Given the description of an element on the screen output the (x, y) to click on. 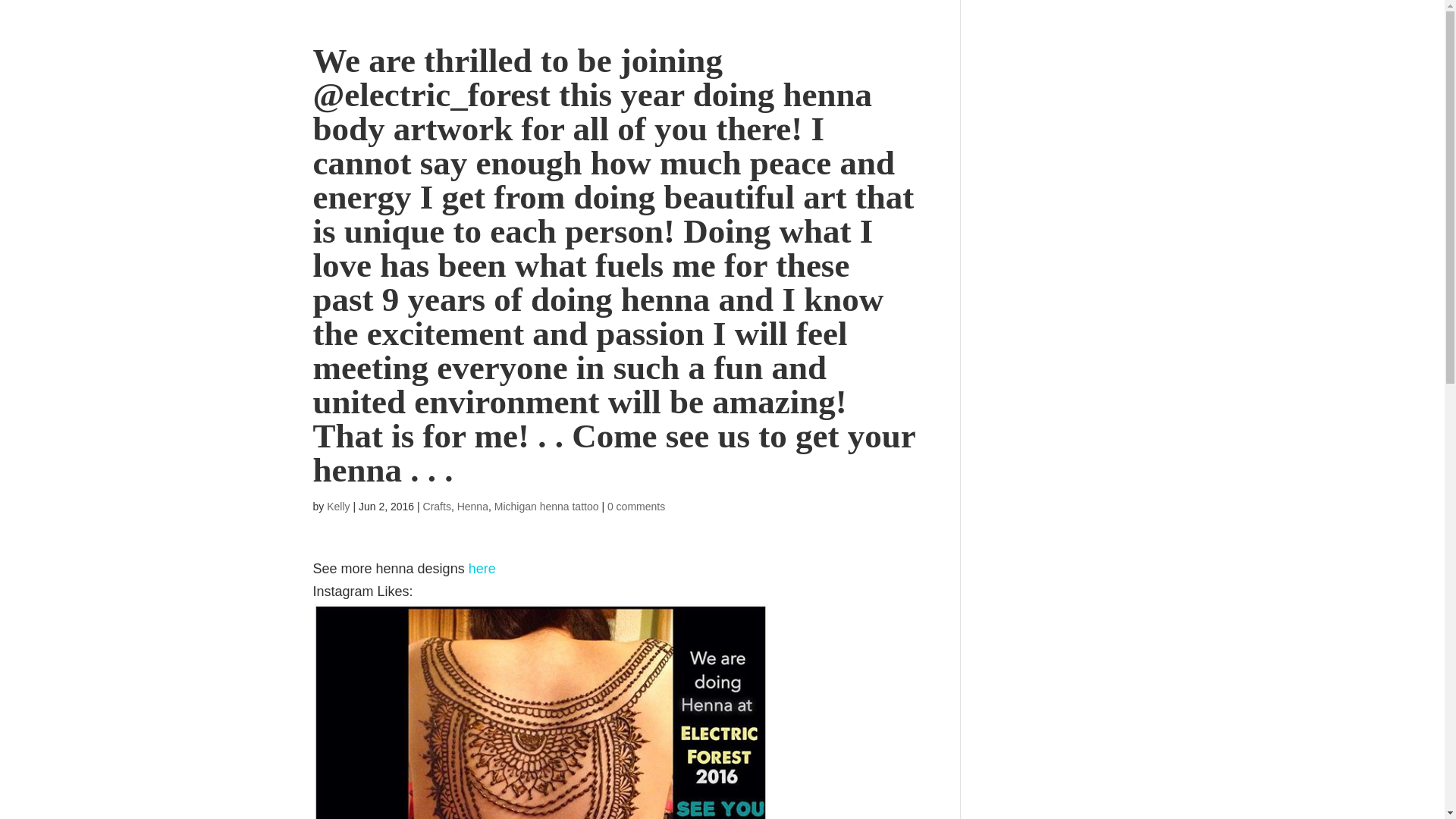
Crafts (437, 506)
Posts by Kelly (337, 506)
Kelly (337, 506)
0 comments (636, 506)
Henna (472, 506)
here (482, 568)
Michigan henna tattoo (546, 506)
